Given the description of an element on the screen output the (x, y) to click on. 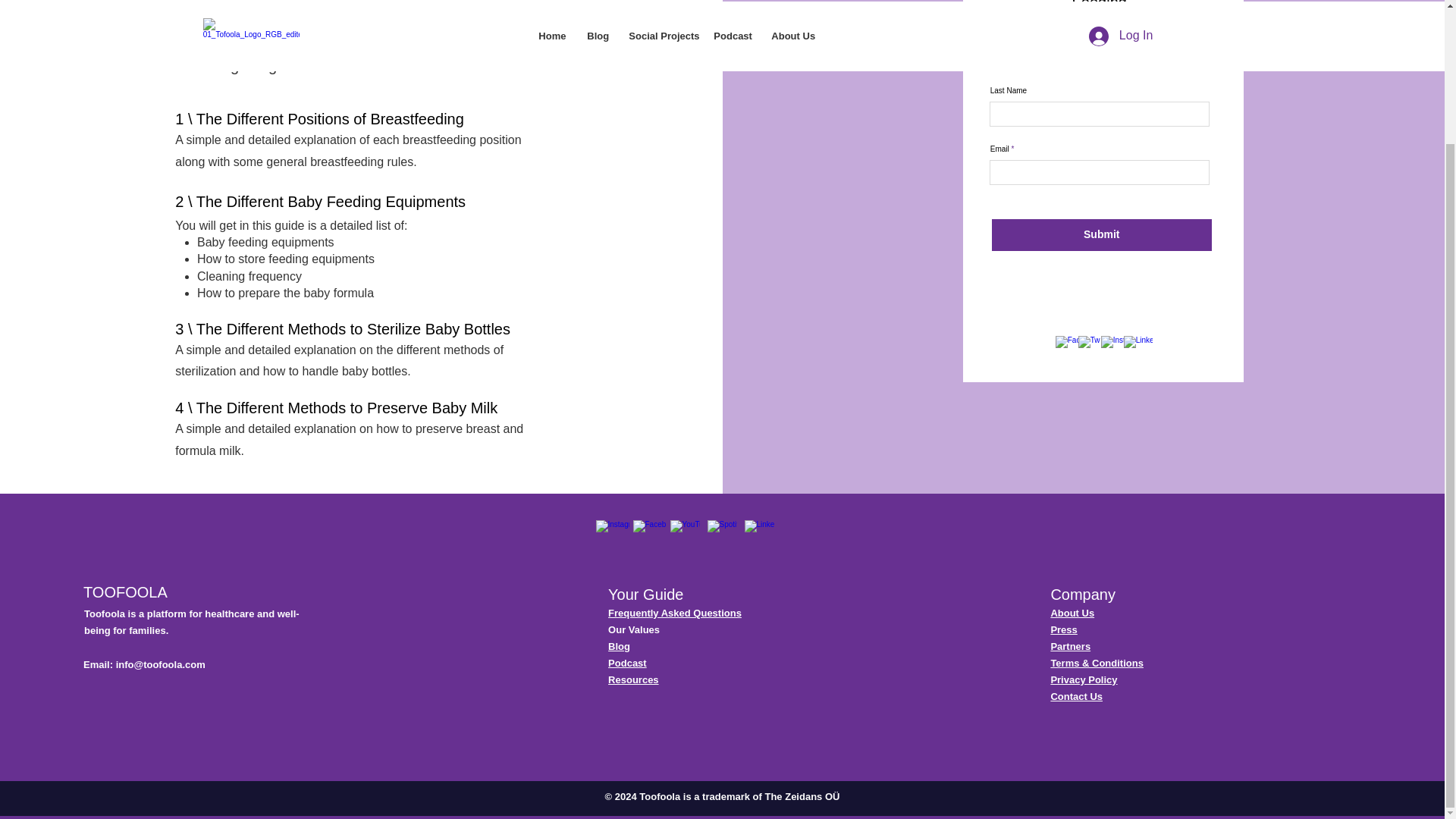
Contact Us (1075, 696)
Press (1063, 629)
Frequently Asked Questions (674, 613)
Resources (633, 679)
Submit (1101, 234)
Blog (619, 645)
About Us (1071, 613)
Privacy Policy (1082, 679)
Partners (1069, 645)
Podcast (627, 663)
